Given the description of an element on the screen output the (x, y) to click on. 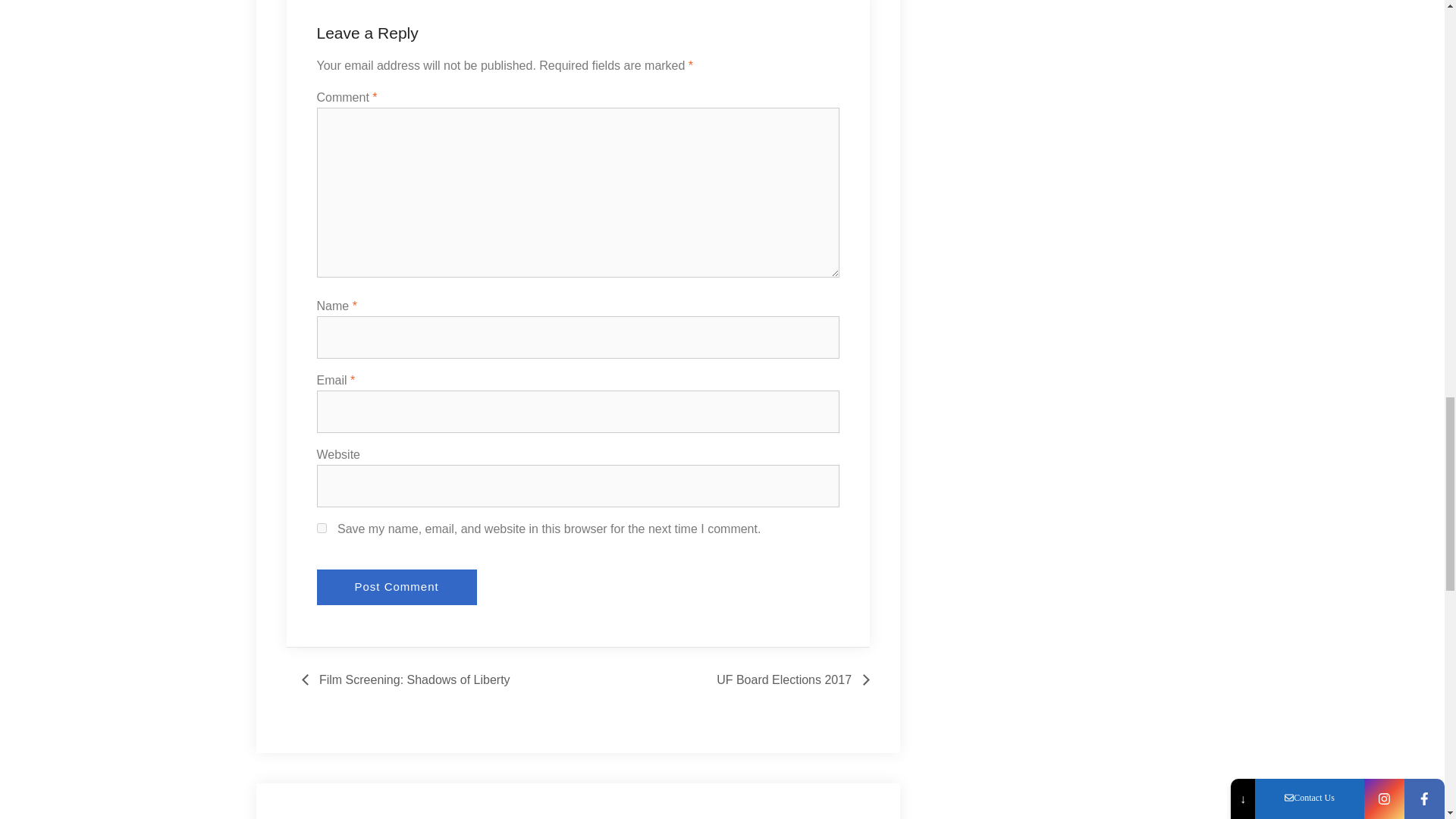
yes (321, 528)
UF Board Elections 2017 (788, 679)
Film Screening: Shadows of Liberty (409, 679)
Post Comment (397, 587)
Post Comment (397, 587)
